Given the description of an element on the screen output the (x, y) to click on. 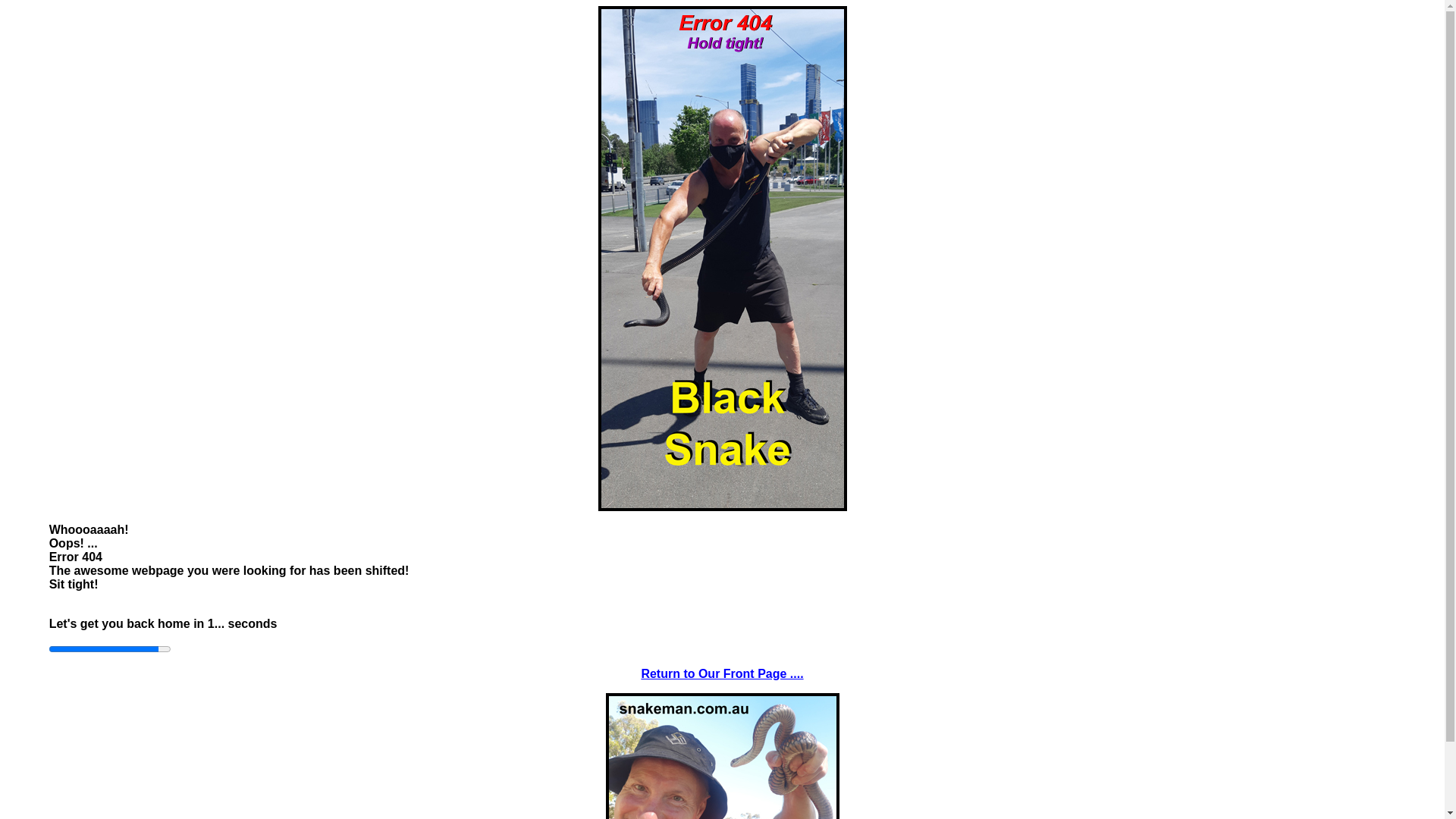
Return to Our Front Page .... Element type: text (721, 673)
snake-man-404 Element type: hover (721, 258)
